Given the description of an element on the screen output the (x, y) to click on. 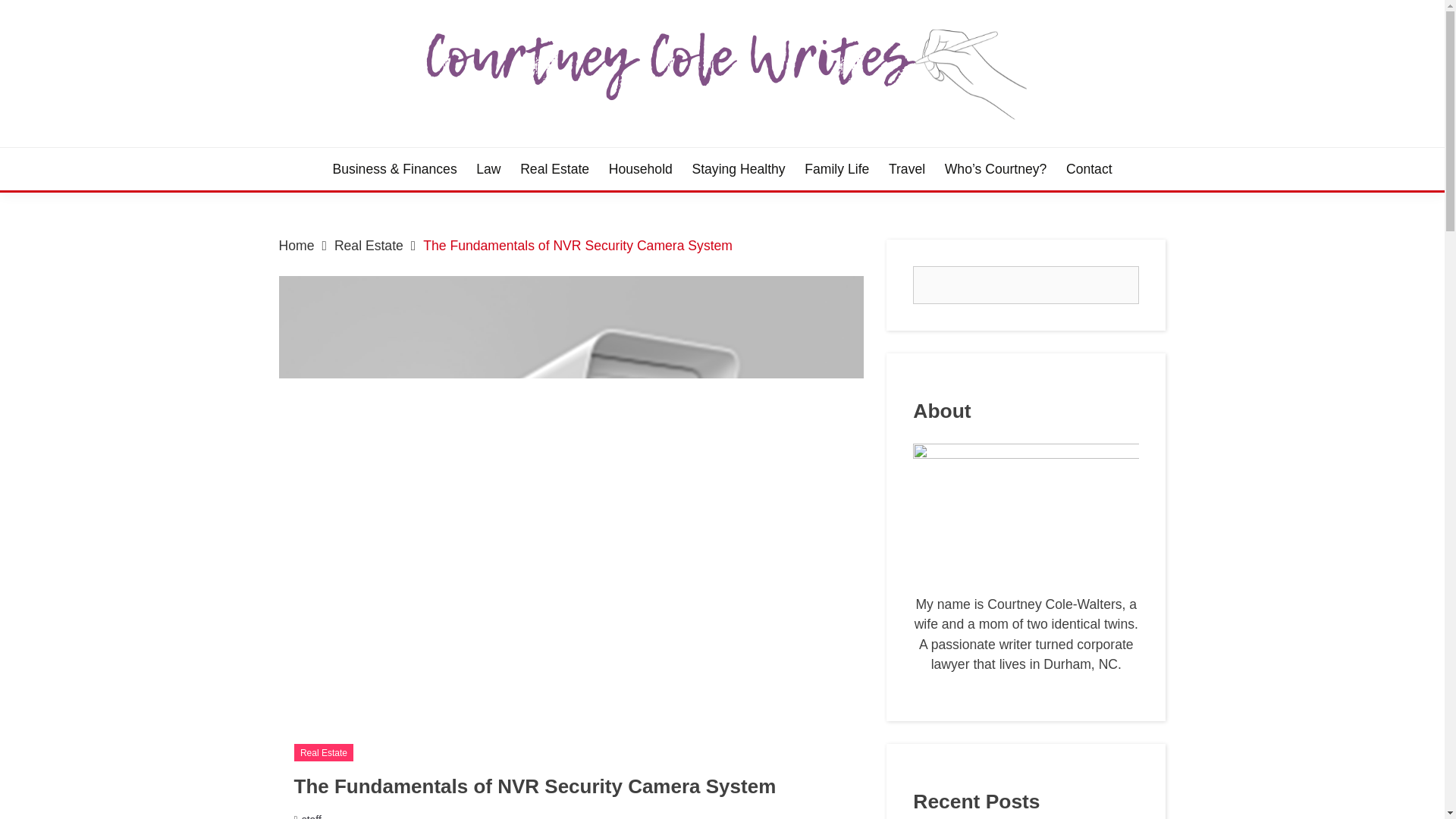
staff (311, 816)
COURTNEY COLE WRITES (535, 150)
Real Estate (323, 752)
Home (296, 245)
Real Estate (368, 245)
Staying Healthy (737, 168)
Law (488, 168)
The Fundamentals of NVR Security Camera System (577, 245)
Travel (906, 168)
Contact (1088, 168)
